Given the description of an element on the screen output the (x, y) to click on. 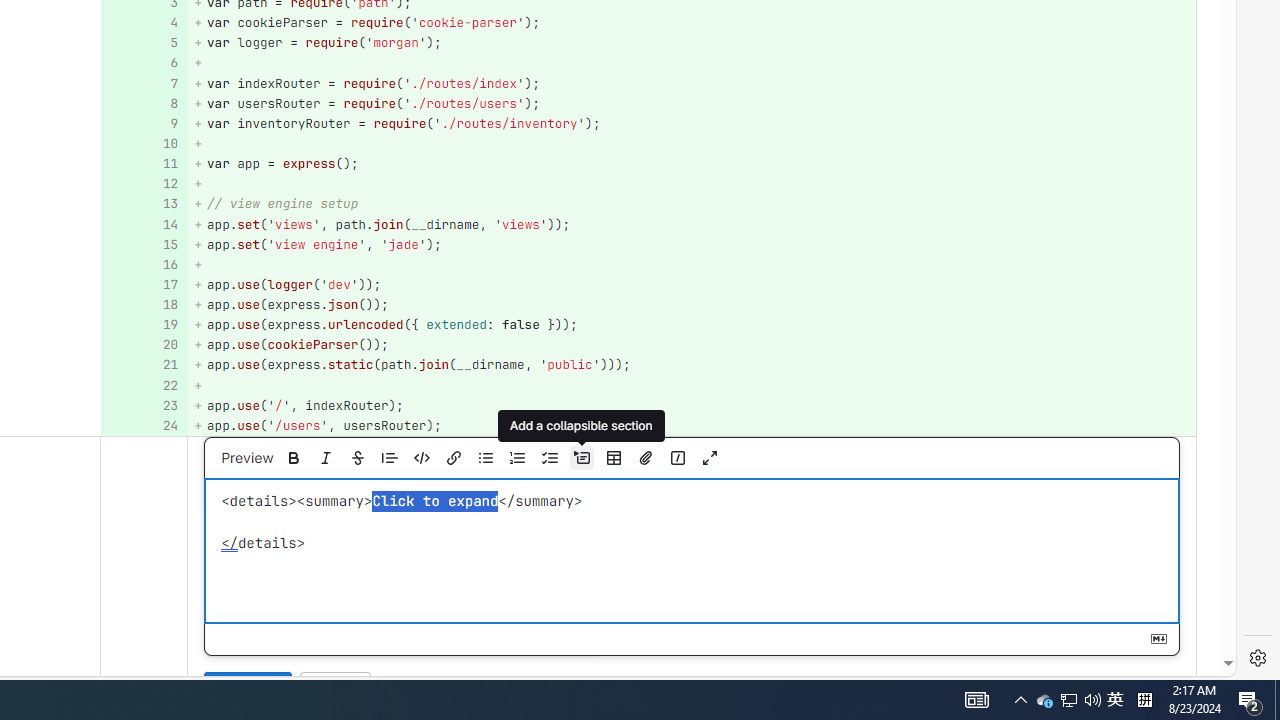
17 (141, 284)
11 (141, 164)
Cancel (335, 687)
16 (141, 264)
Add a comment to this line 8 (144, 102)
Attach a file or image (645, 457)
+ var usersRouter = require('./routes/users');  (691, 102)
+ app.set('view engine', 'jade');  (691, 244)
+ var logger = require('morgan');  (691, 43)
Class: notes_line new (144, 576)
+ var indexRouter = require('./routes/index');  (691, 83)
